Given the description of an element on the screen output the (x, y) to click on. 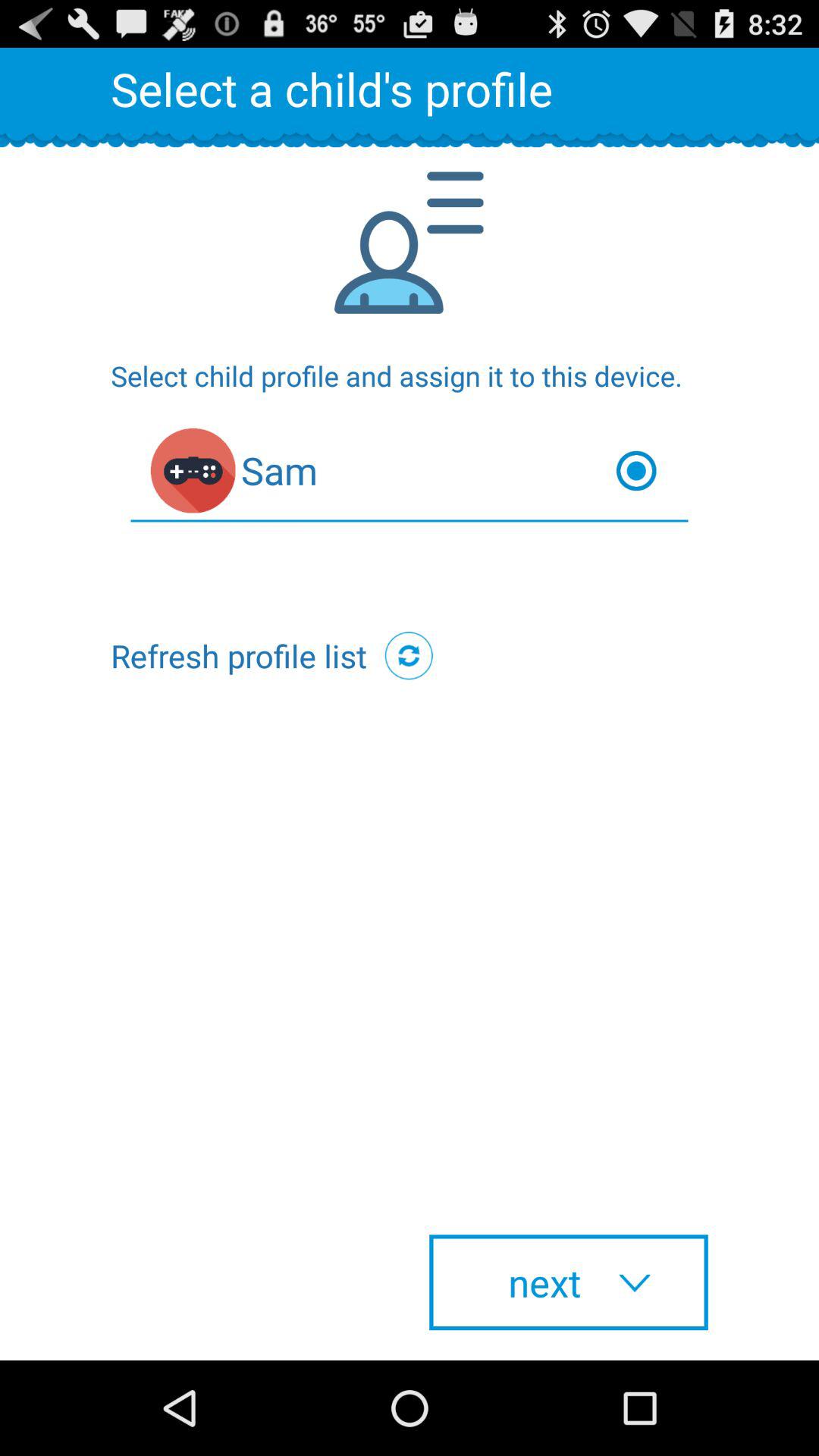
open icon at the center (408, 655)
